Given the description of an element on the screen output the (x, y) to click on. 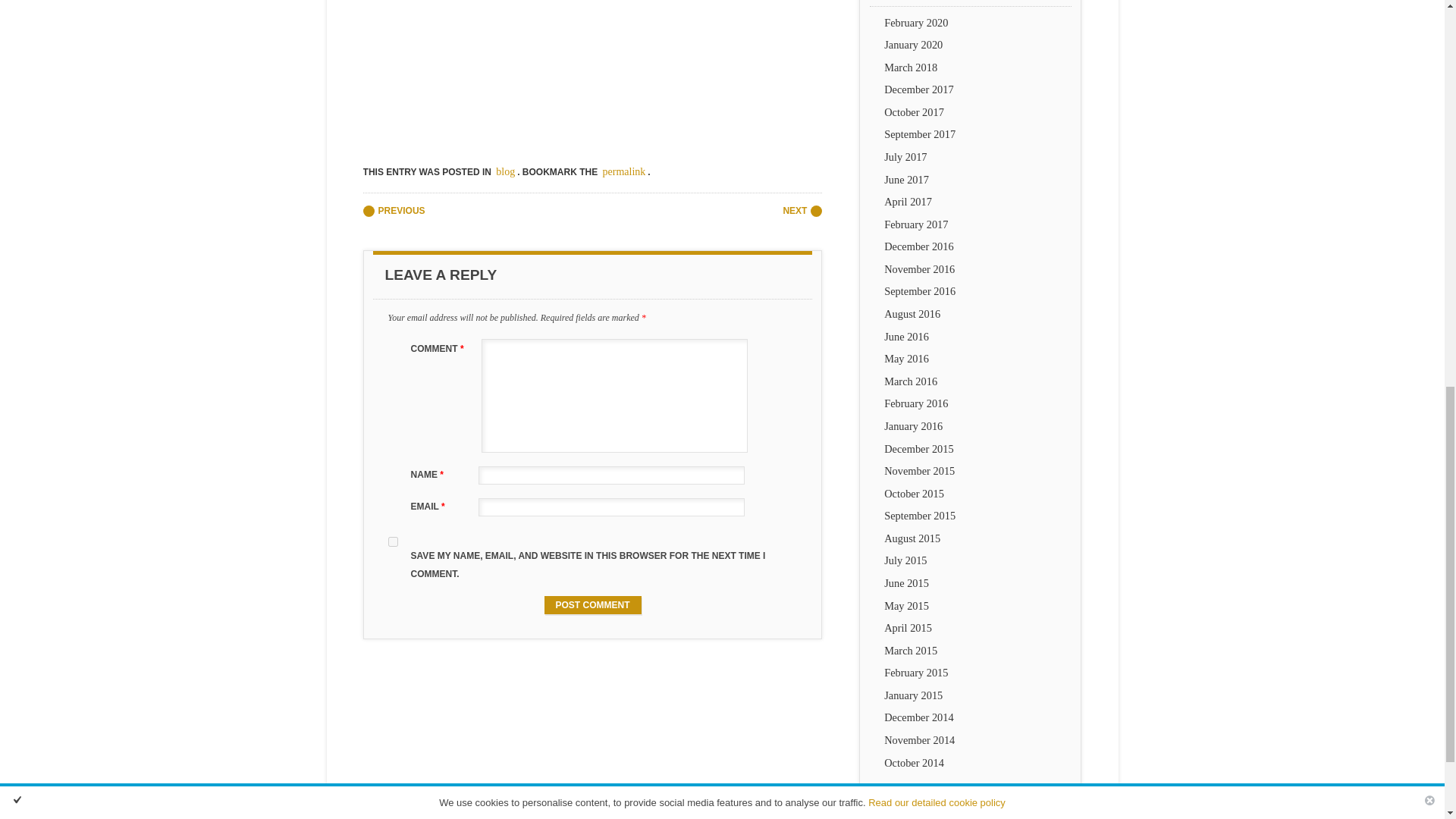
NEXT (802, 210)
Post Comment (593, 605)
Post Comment (593, 605)
blog (504, 171)
permalink (623, 171)
PREVIOUS (393, 210)
yes (392, 542)
